Given the description of an element on the screen output the (x, y) to click on. 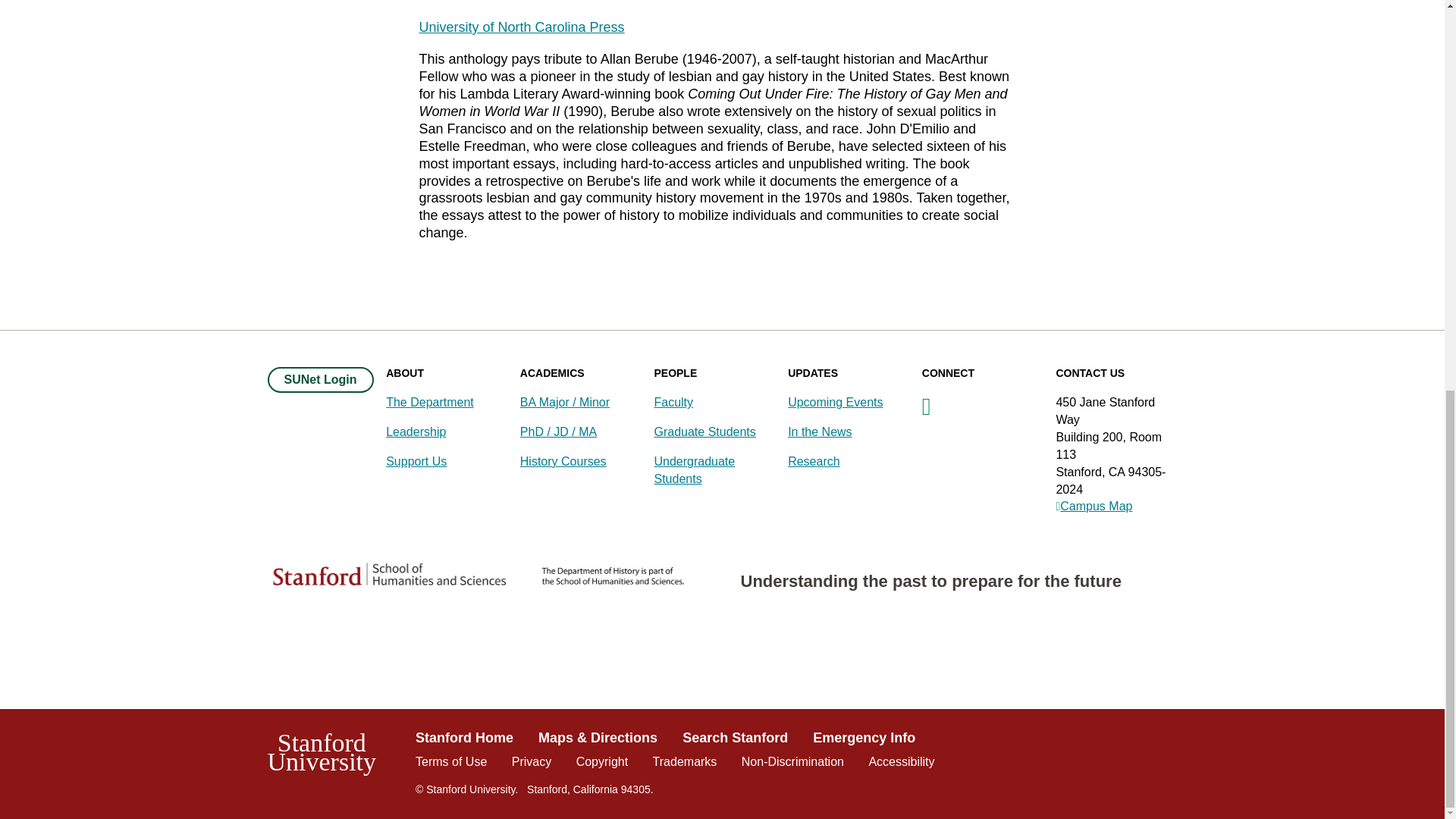
Terms of use for sites (450, 761)
Privacy and cookie policy (531, 761)
Report web accessibility issues (900, 761)
Report alleged copyright infringement (601, 761)
Ownership and use of Stanford trademarks and images (684, 761)
Non-discrimination policy (792, 761)
